Given the description of an element on the screen output the (x, y) to click on. 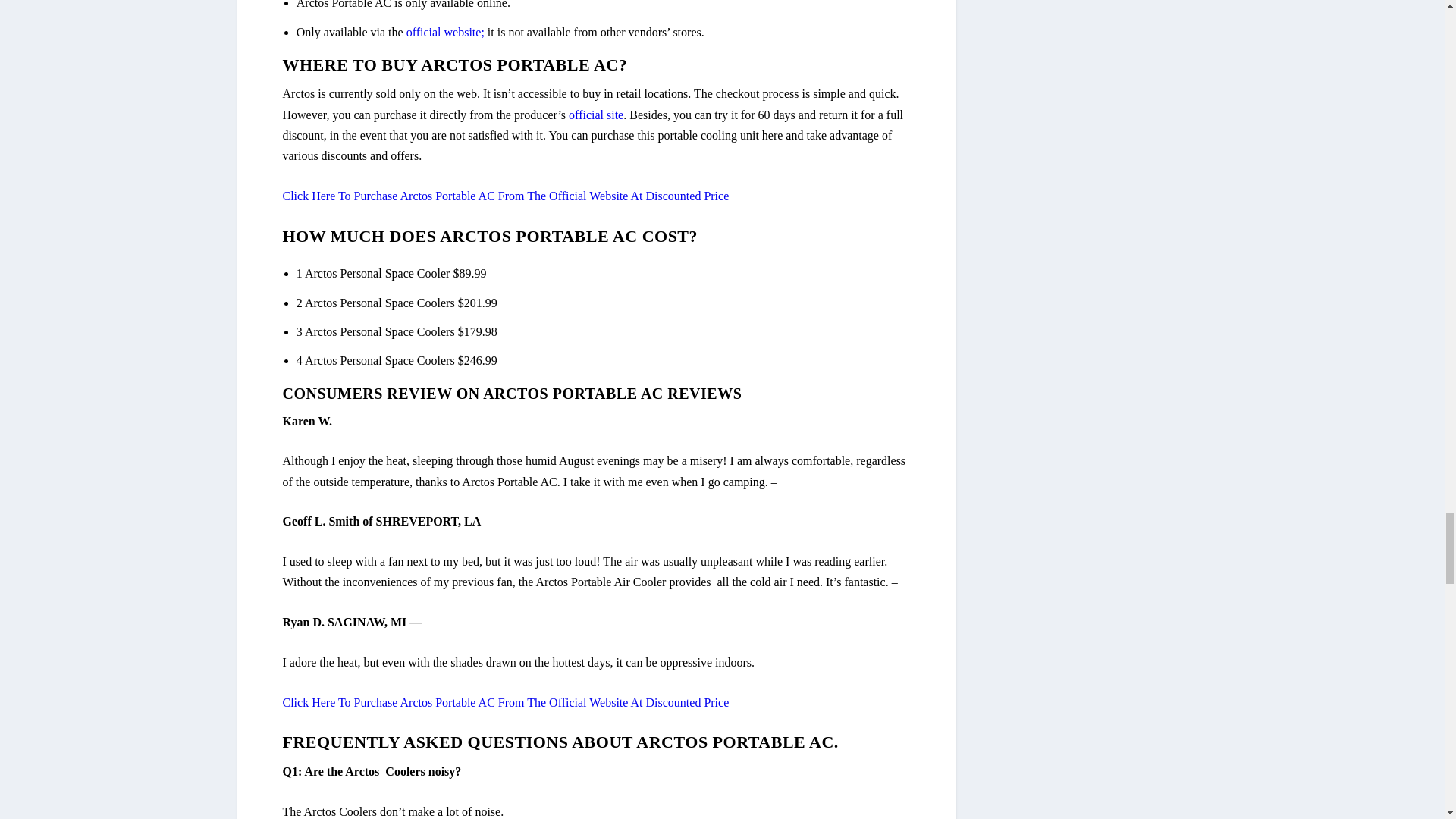
official site (596, 114)
official website; (445, 31)
